Given the description of an element on the screen output the (x, y) to click on. 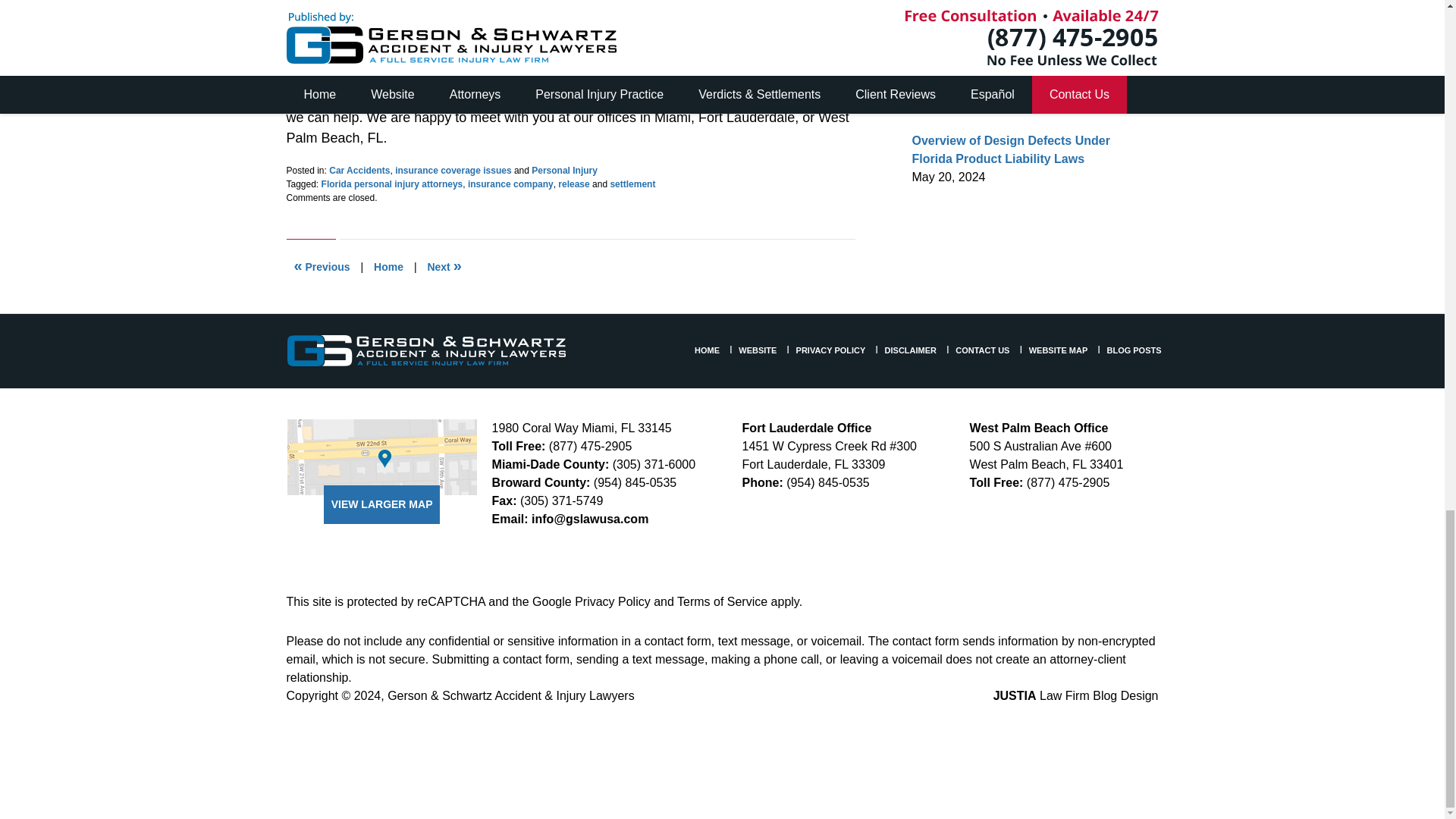
Florida personal injury attorneys (392, 184)
insurance company (510, 184)
please contact (578, 96)
release (573, 184)
Home (388, 266)
Car Accidents (359, 170)
Personal Injury (563, 170)
View all posts tagged with release (573, 184)
settlement (632, 184)
Insurance Claims After a Miami Motorcycle Accident (443, 266)
View all posts tagged with Florida personal injury attorneys (392, 184)
View all posts in Personal Injury (563, 170)
View all posts tagged with settlement (632, 184)
View all posts tagged with insurance company (510, 184)
